Given the description of an element on the screen output the (x, y) to click on. 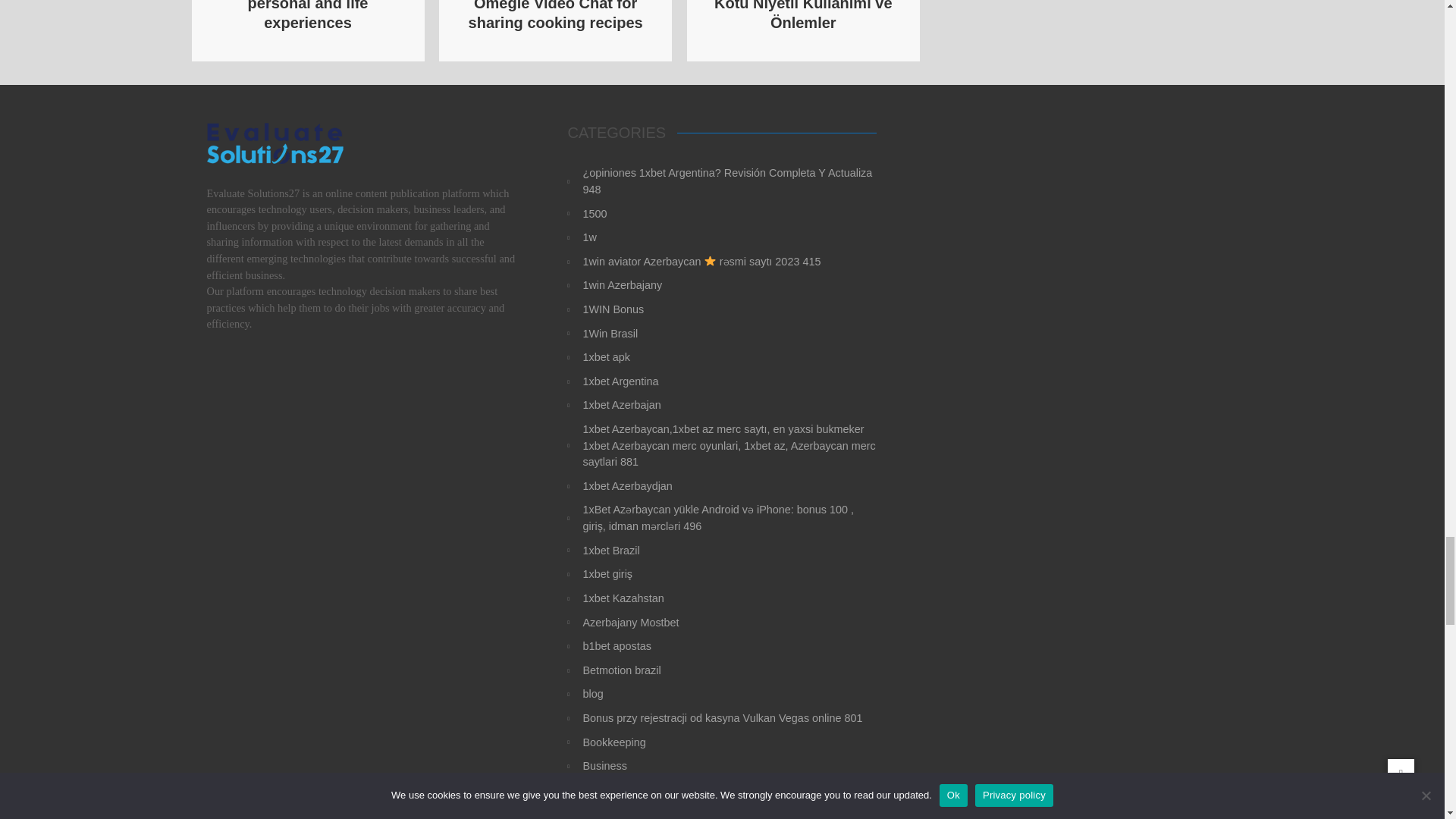
Omegle Video Chat for sharing cooking recipes (555, 15)
Omegle chat for sharing personal and life experiences (307, 15)
1500 (729, 214)
Omegle Video Chat for sharing cooking recipes (555, 15)
Omegle chat for sharing personal and life experiences (307, 15)
1w (729, 238)
